Given the description of an element on the screen output the (x, y) to click on. 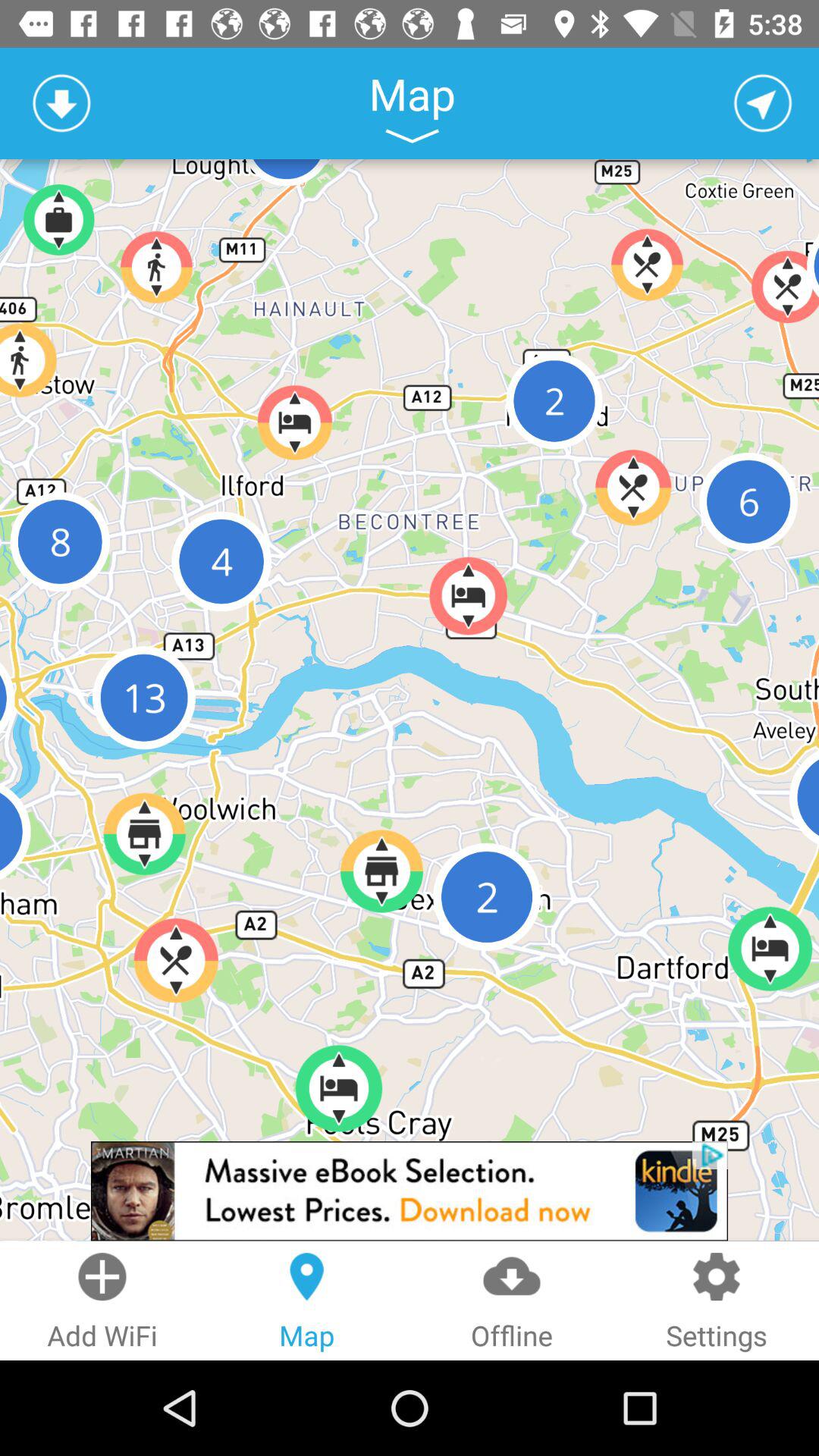
select navigate (762, 103)
